Given the description of an element on the screen output the (x, y) to click on. 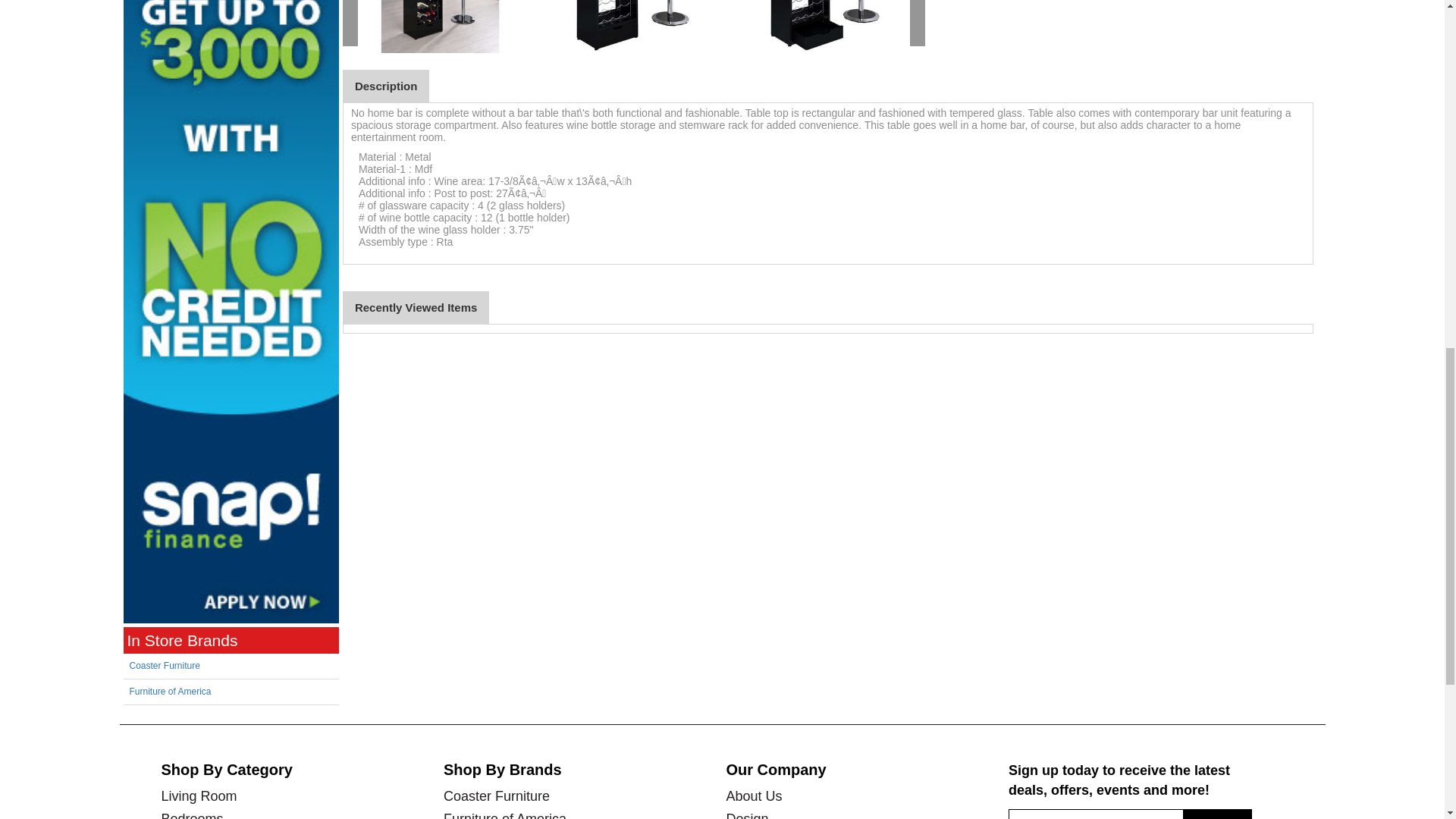
Submit (1217, 814)
